Given the description of an element on the screen output the (x, y) to click on. 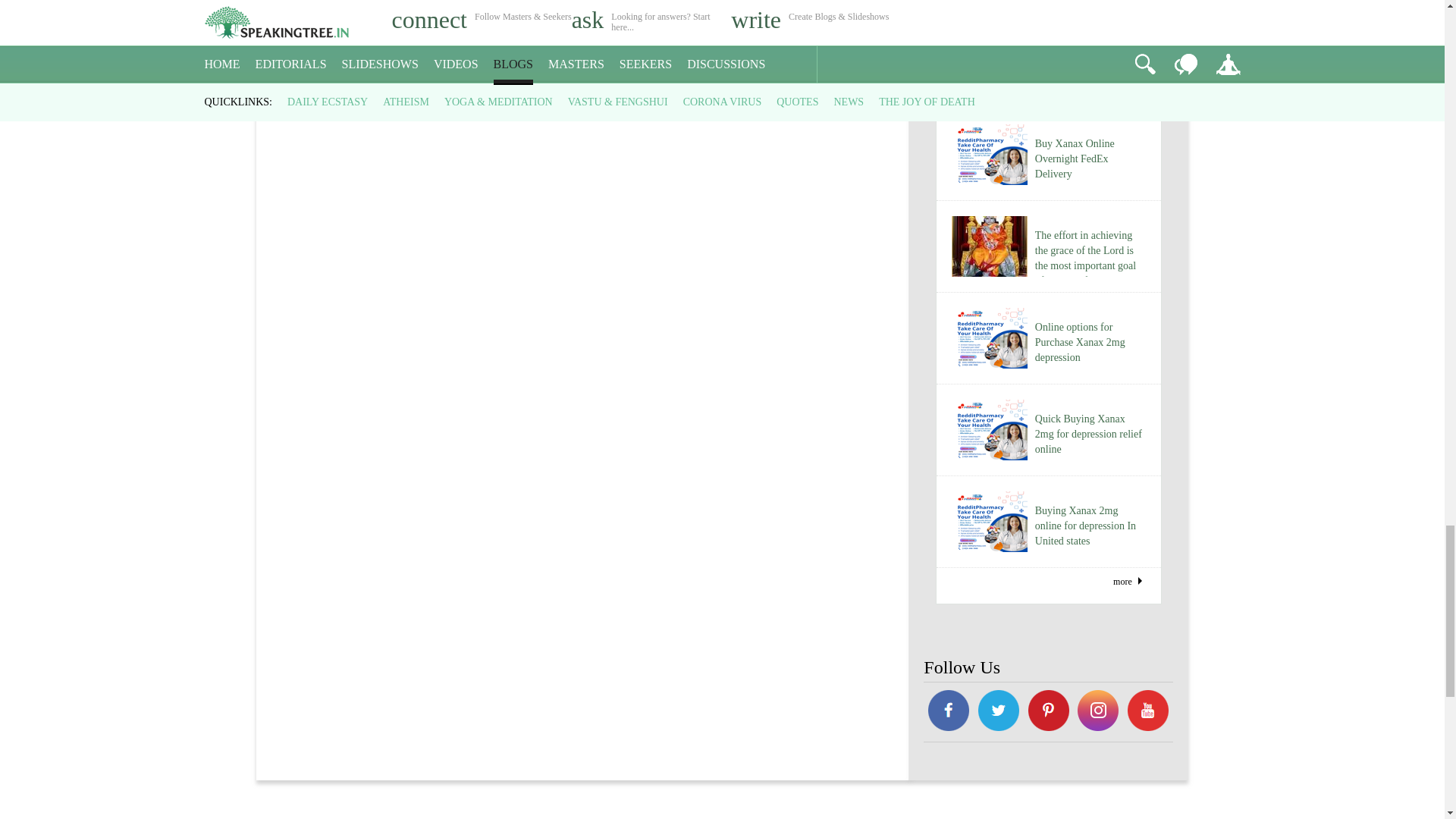
Speaking Tree FaceBook (1048, 712)
Speaking Tree FaceBook (998, 712)
Speaking Tree FaceBook (1099, 712)
Speaking Tree FaceBook (1147, 712)
Speaking Tree FaceBook (948, 712)
